Given the description of an element on the screen output the (x, y) to click on. 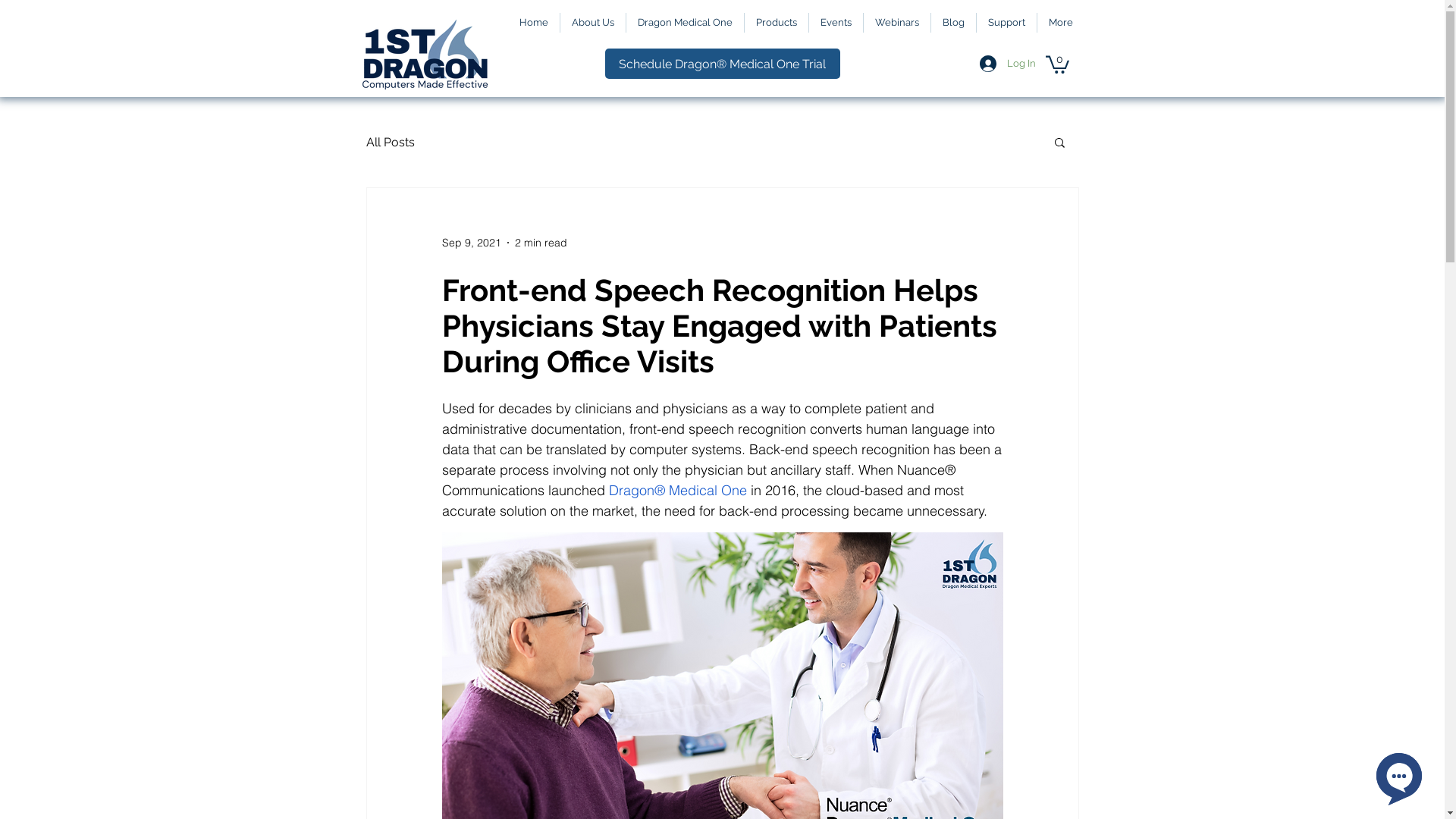
About Us Element type: text (591, 22)
Webinars Element type: text (895, 22)
All Posts Element type: text (389, 141)
Dragon Element type: text (630, 489)
Blog Element type: text (953, 22)
Medical One Element type: text (707, 489)
Log In Element type: text (1007, 63)
Home Element type: text (533, 22)
Support Element type: text (1006, 22)
Events Element type: text (835, 22)
Dragon Medical One Element type: text (684, 22)
0 Element type: text (1056, 63)
